Given the description of an element on the screen output the (x, y) to click on. 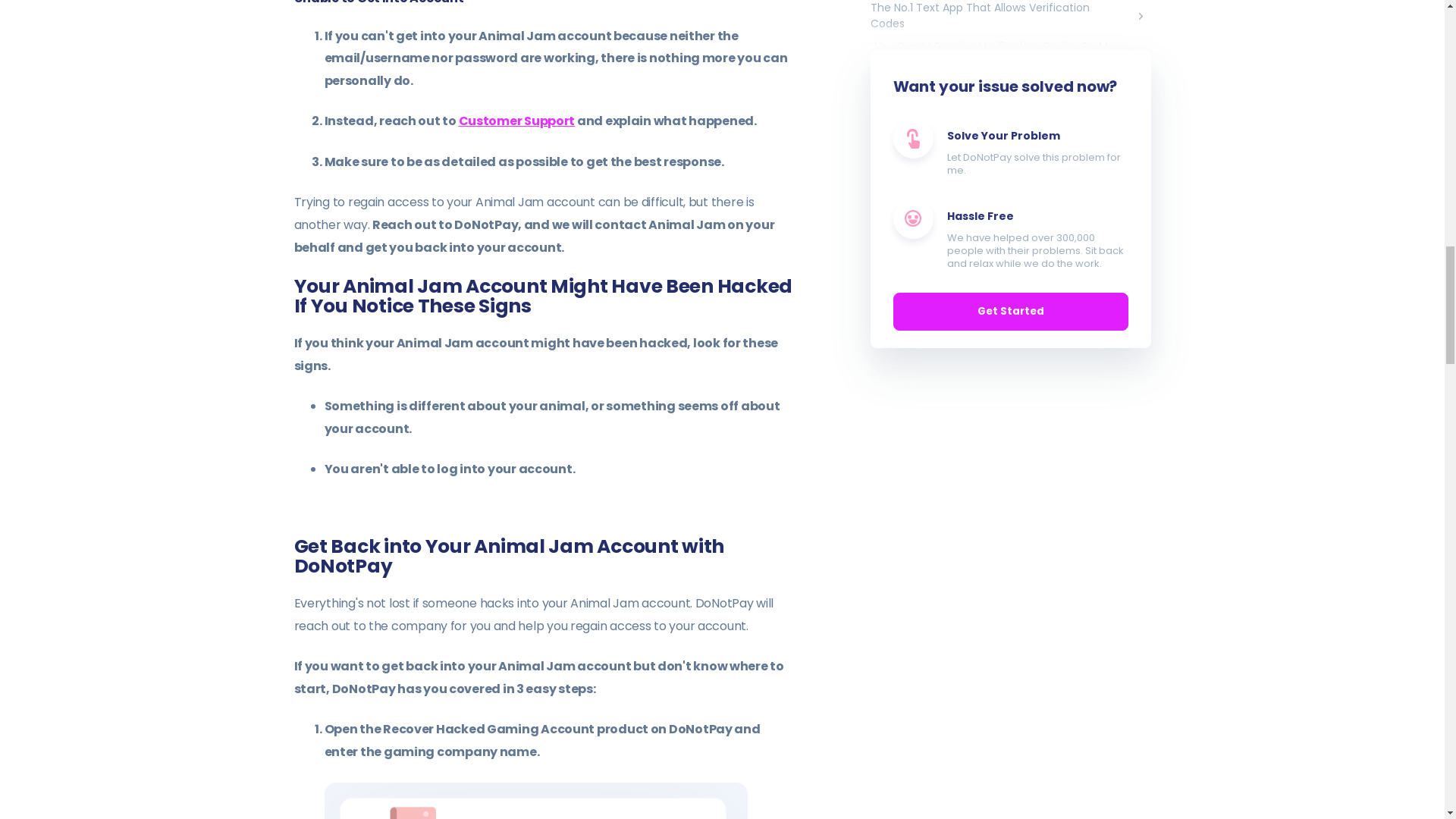
Customer Support (516, 120)
